Given the description of an element on the screen output the (x, y) to click on. 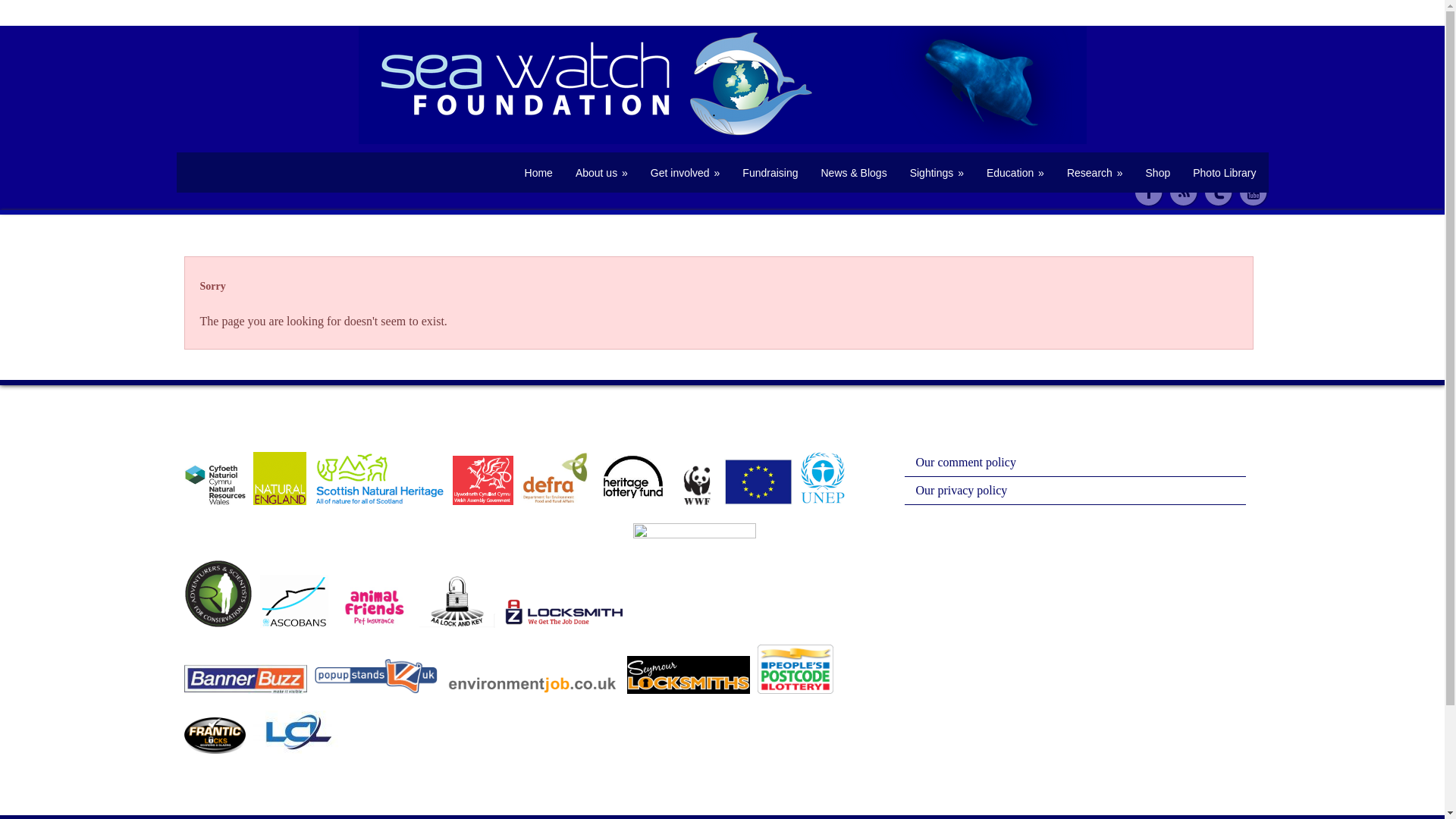
Fundraising (769, 172)
About Sea Watch Foundation (601, 172)
Whale and dolphin conservation volunteering (685, 172)
Home (538, 172)
Sea Watch Foundation (538, 172)
